Given the description of an element on the screen output the (x, y) to click on. 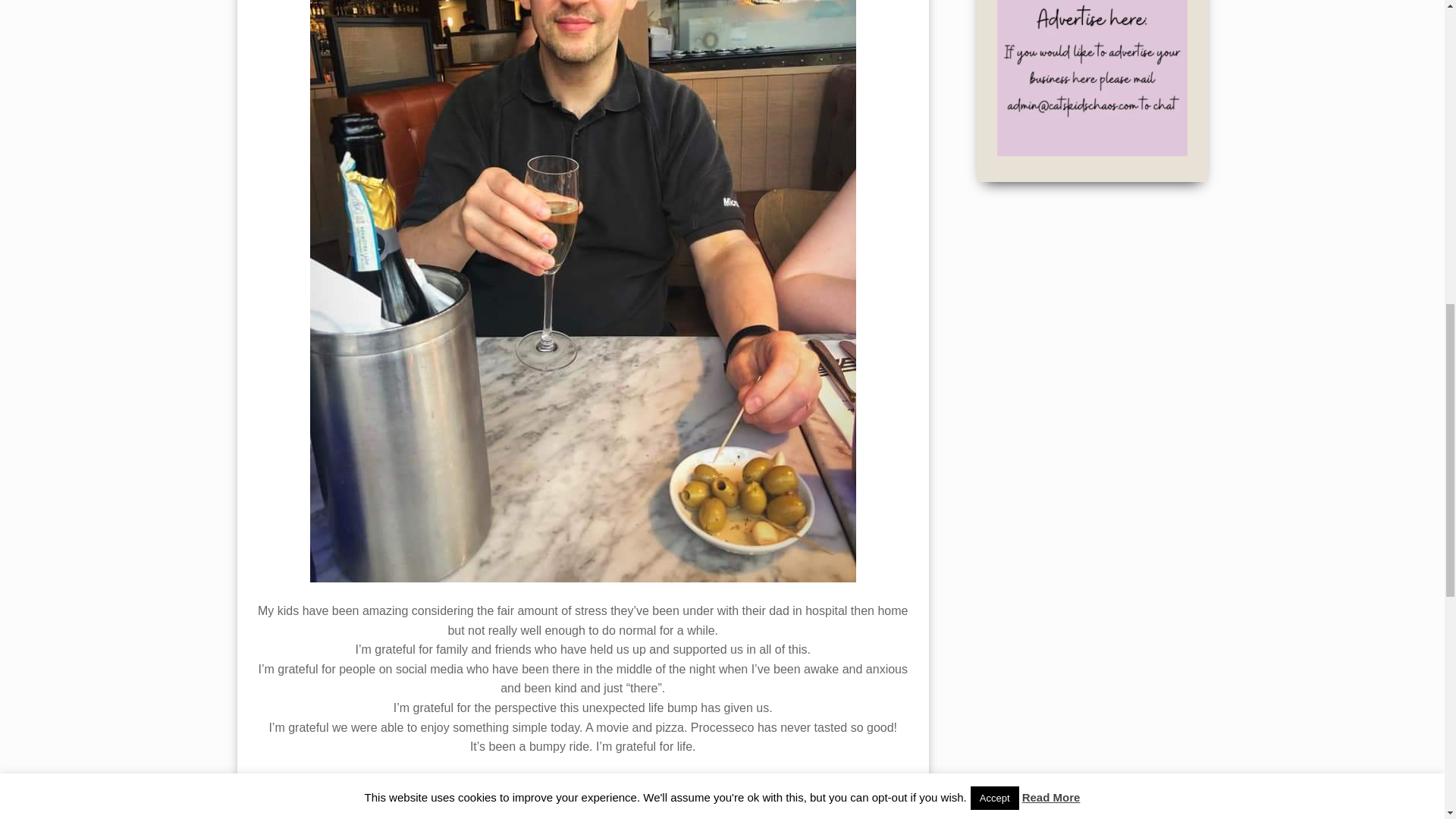
Family Life and Parenting (342, 777)
grateful (478, 777)
what is myocarditis (532, 777)
Health (406, 777)
